Given the description of an element on the screen output the (x, y) to click on. 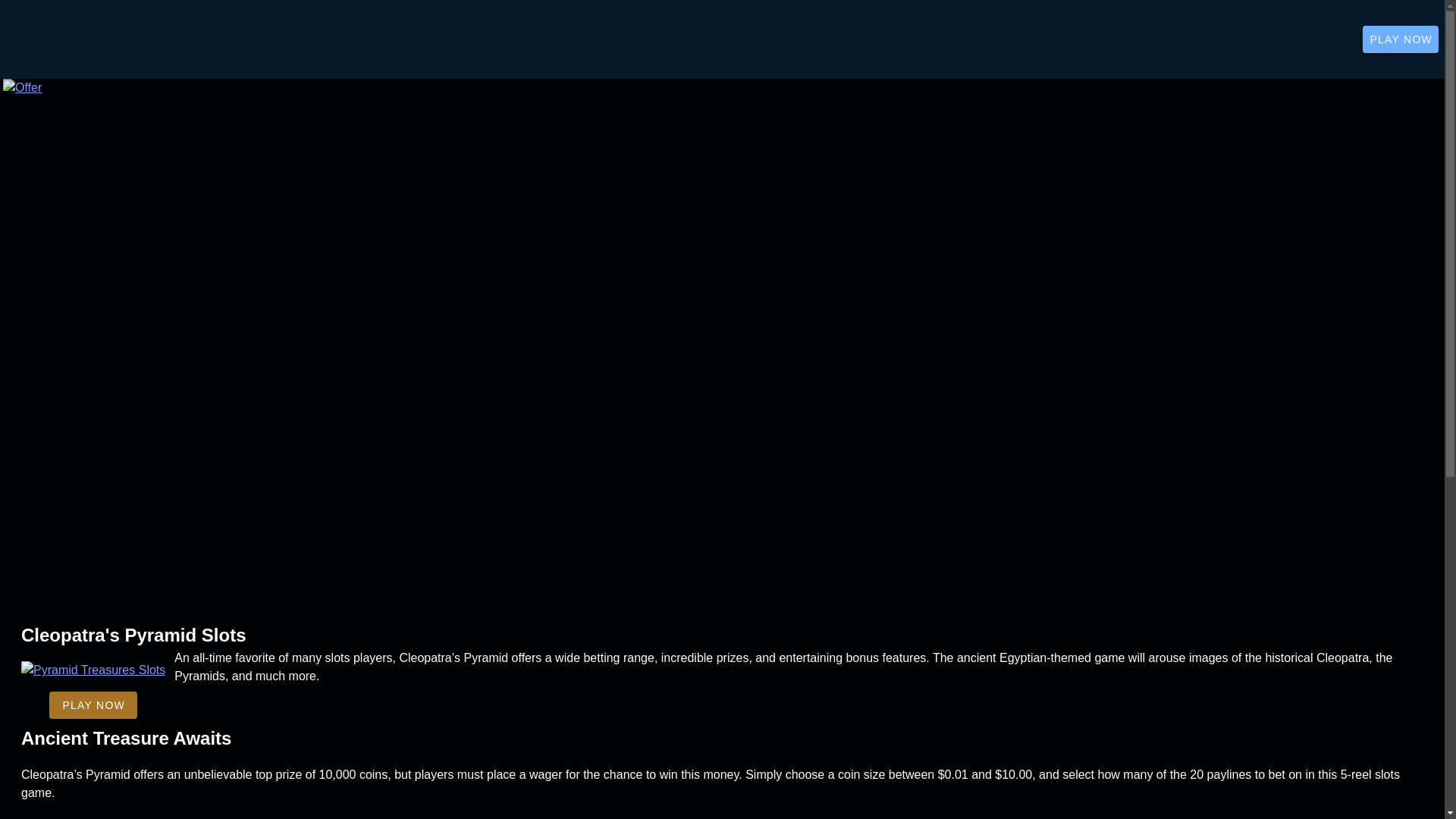
PLAY NOW (92, 705)
PLAY NOW (1400, 39)
